Given the description of an element on the screen output the (x, y) to click on. 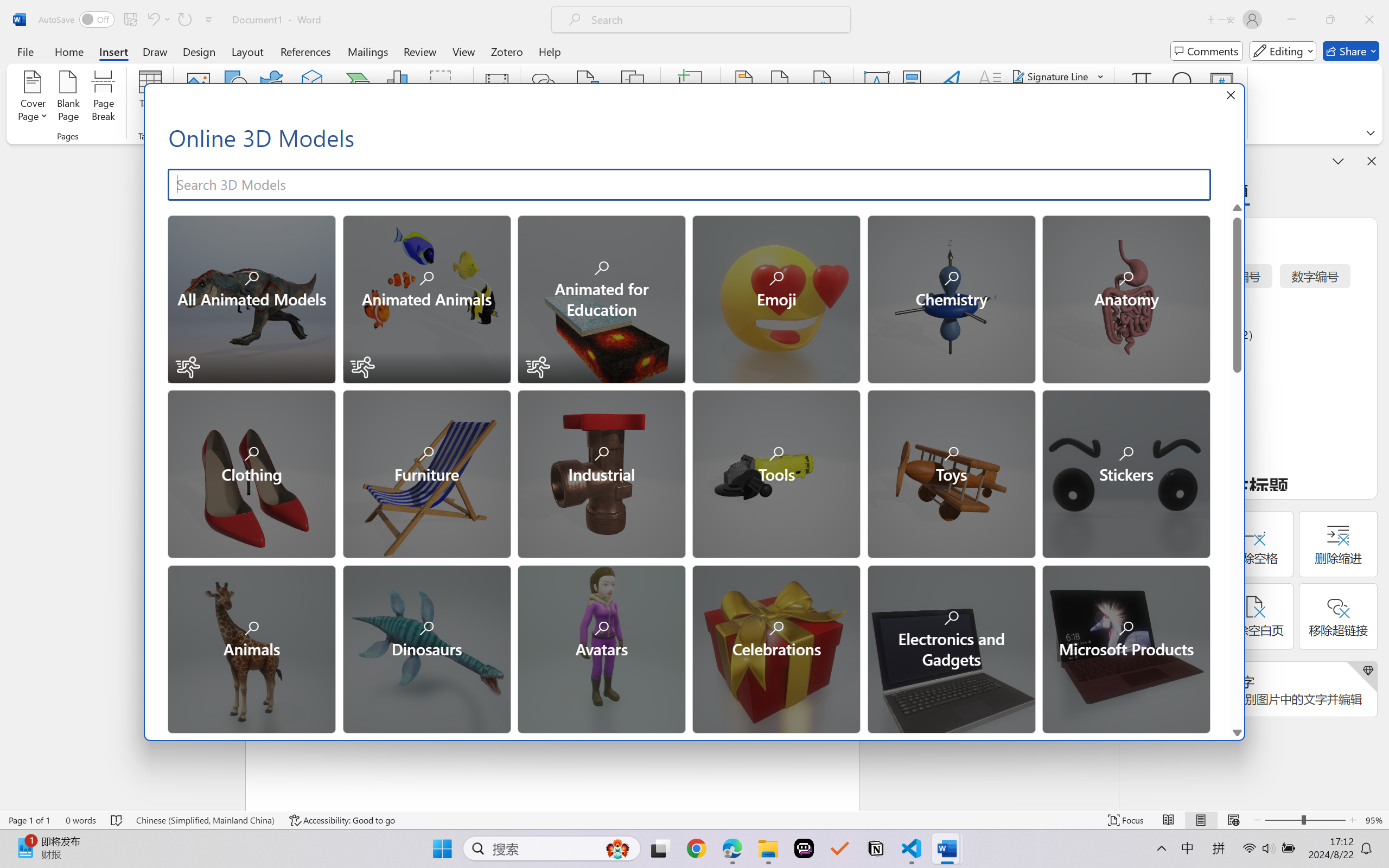
Undo Number Default (158, 19)
Stickers (1125, 473)
